Given the description of an element on the screen output the (x, y) to click on. 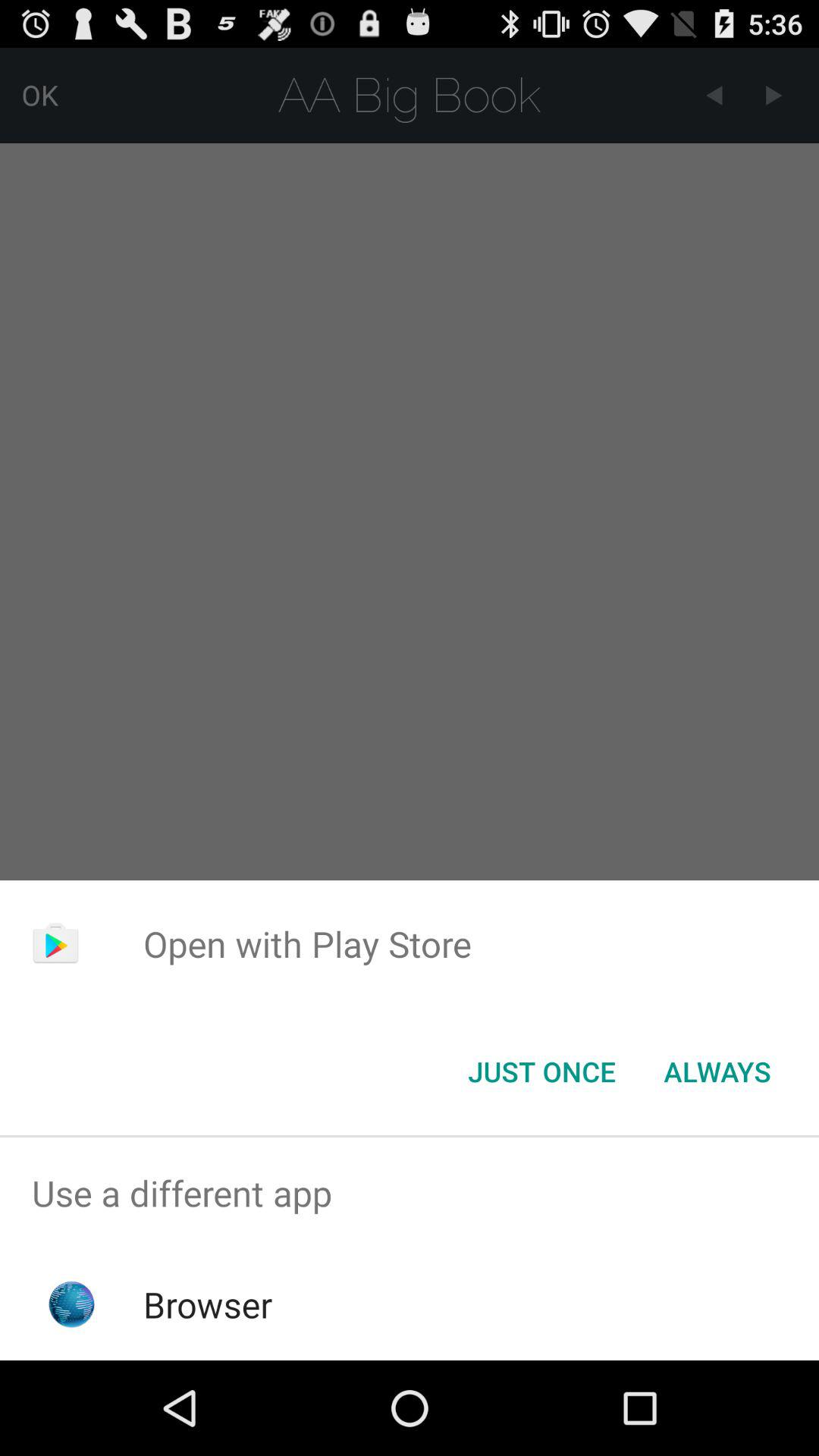
flip until the just once item (541, 1071)
